Given the description of an element on the screen output the (x, y) to click on. 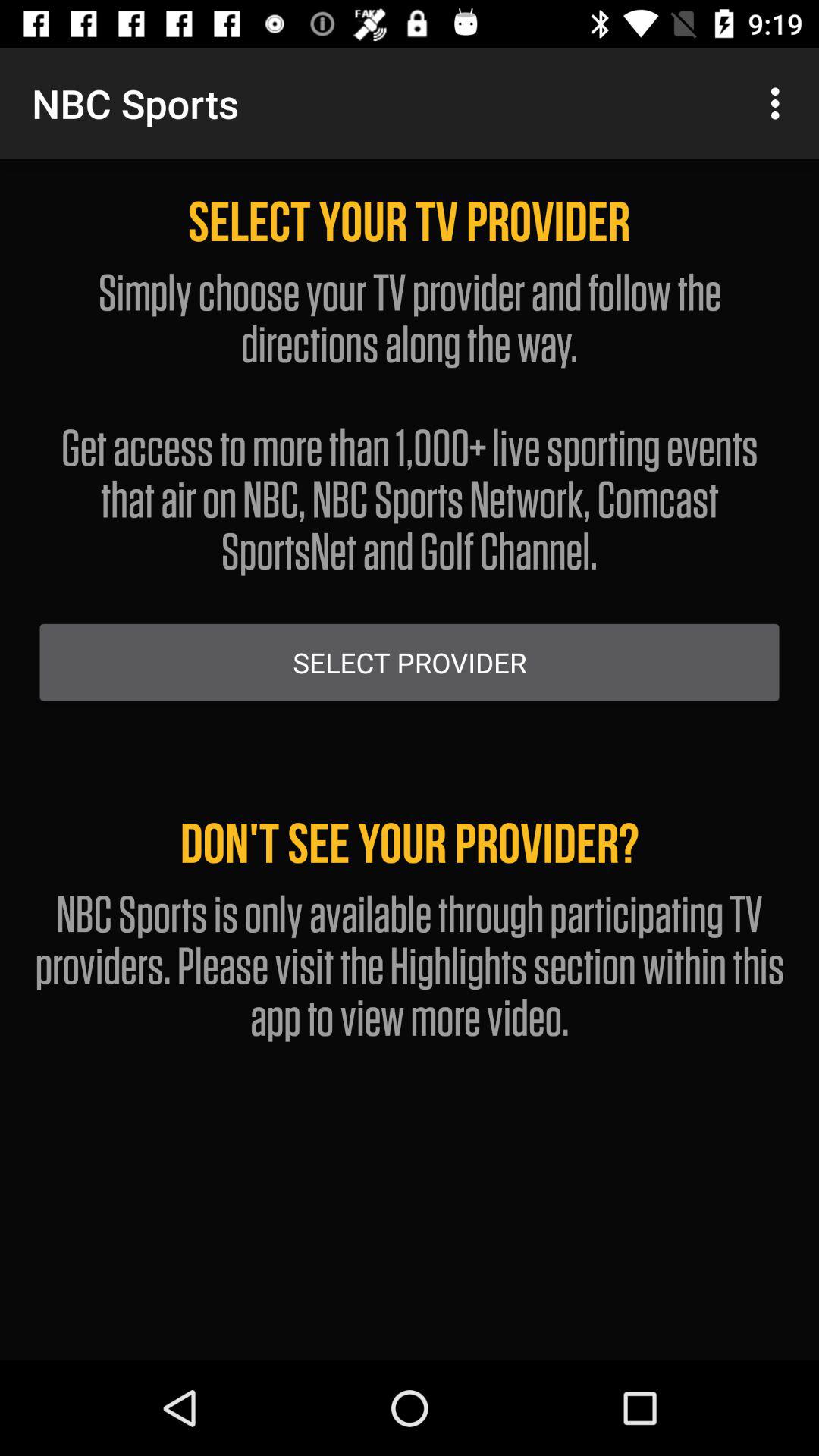
tap the item above the simply choose your (779, 103)
